Given the description of an element on the screen output the (x, y) to click on. 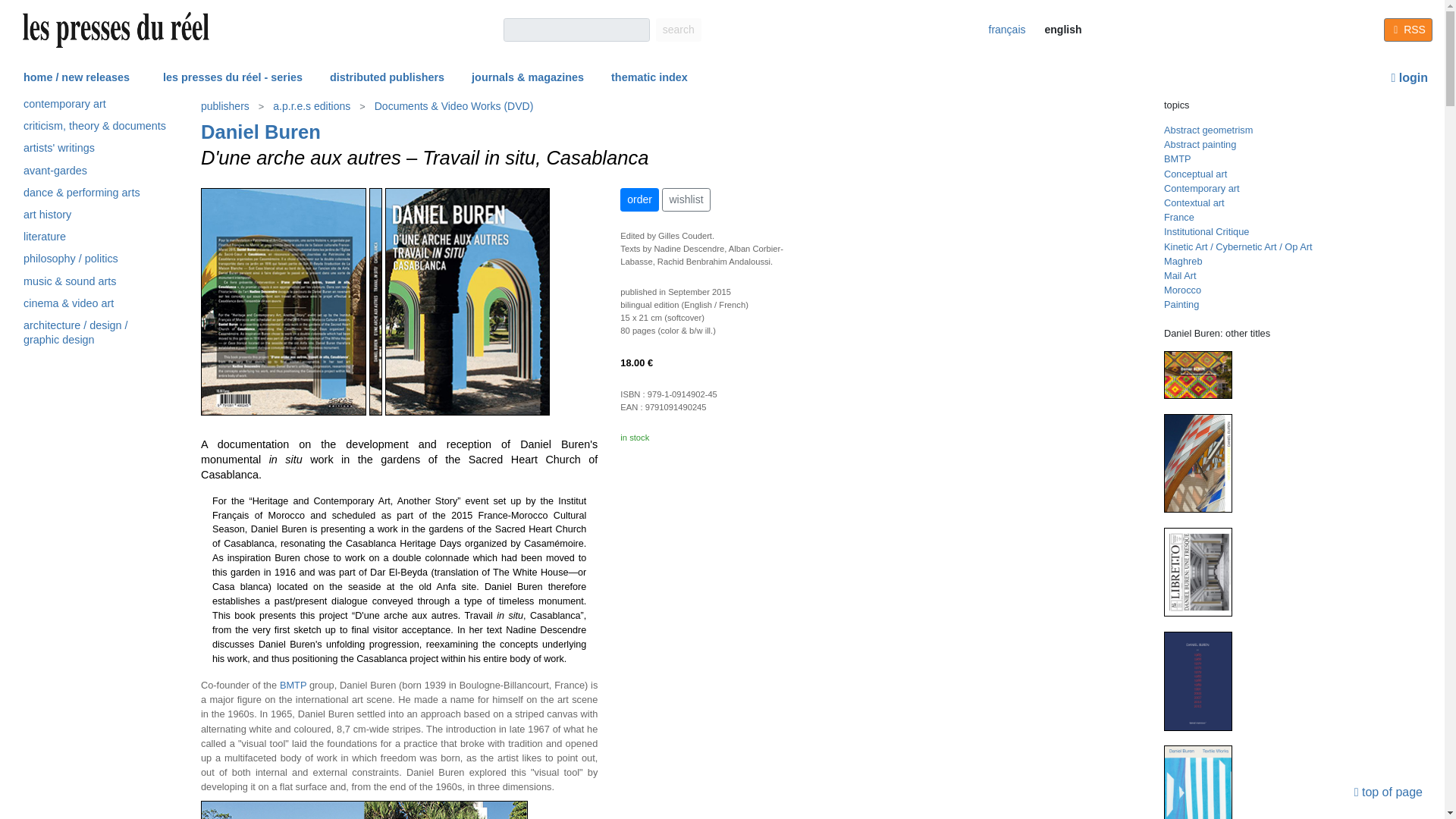
literature (94, 239)
artists' writings (94, 150)
Abstract geometrism (1207, 129)
BMTP (1177, 158)
RSS (1408, 29)
2 lettres minimum (576, 29)
contemporary art (94, 106)
distributed publishers (386, 77)
a.p.r.e.s editions (311, 106)
search (678, 29)
Abstract painting (1199, 143)
list all titles (260, 131)
publishers (225, 106)
wishlist (686, 199)
art history (94, 217)
